Given the description of an element on the screen output the (x, y) to click on. 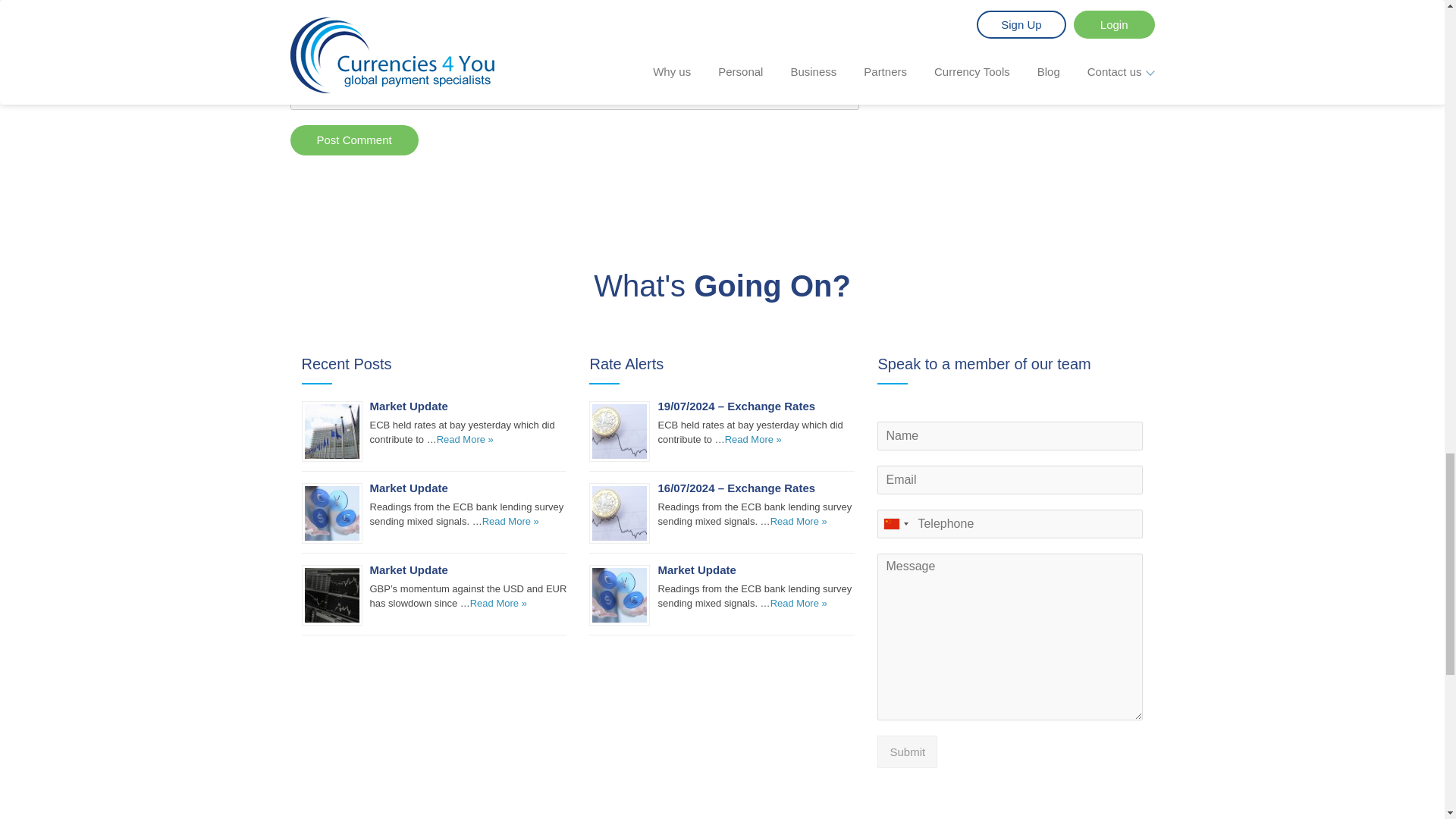
Post Comment (353, 140)
